Given the description of an element on the screen output the (x, y) to click on. 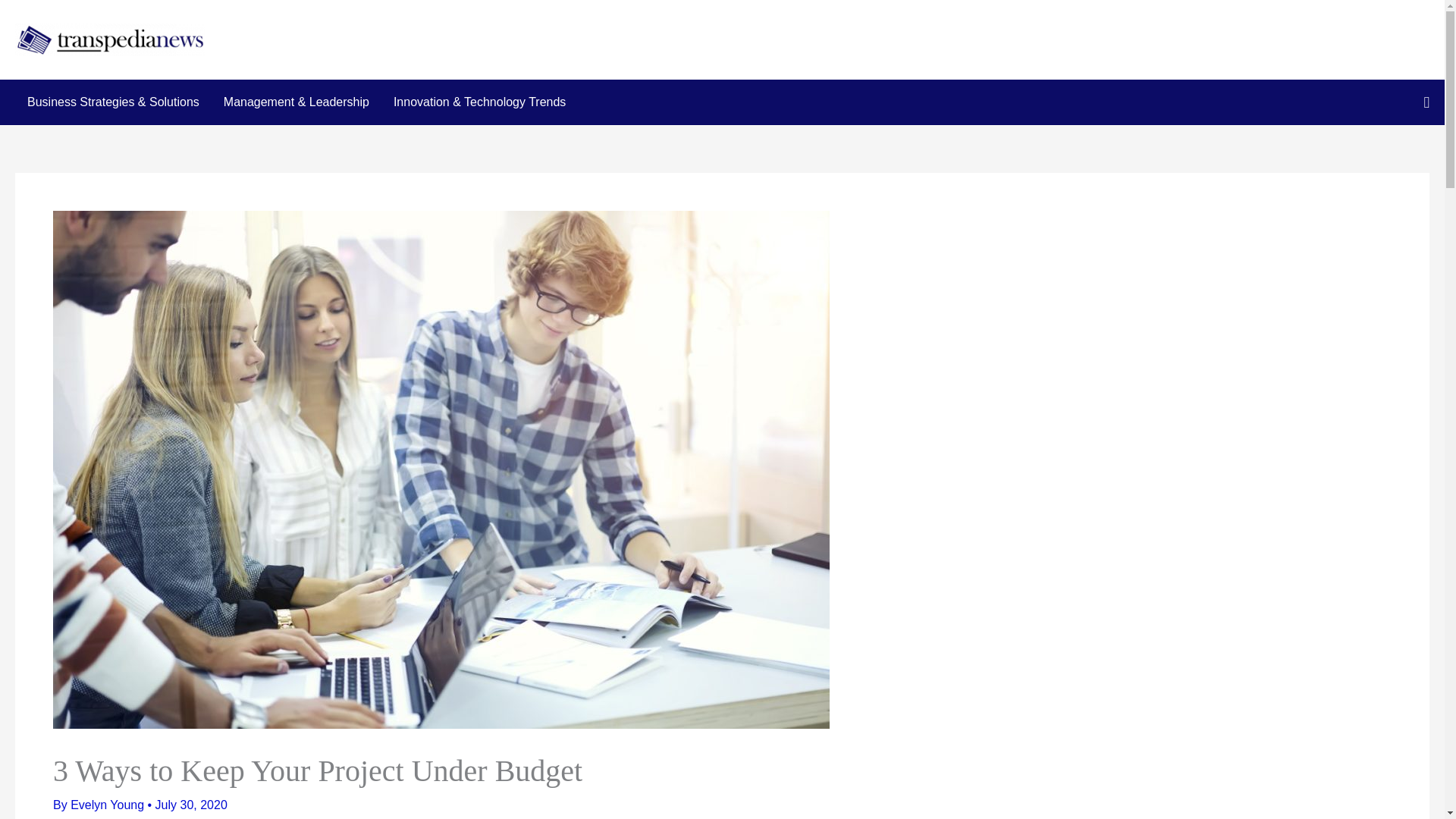
Evelyn Young (108, 804)
View all posts by Evelyn Young (108, 804)
